Given the description of an element on the screen output the (x, y) to click on. 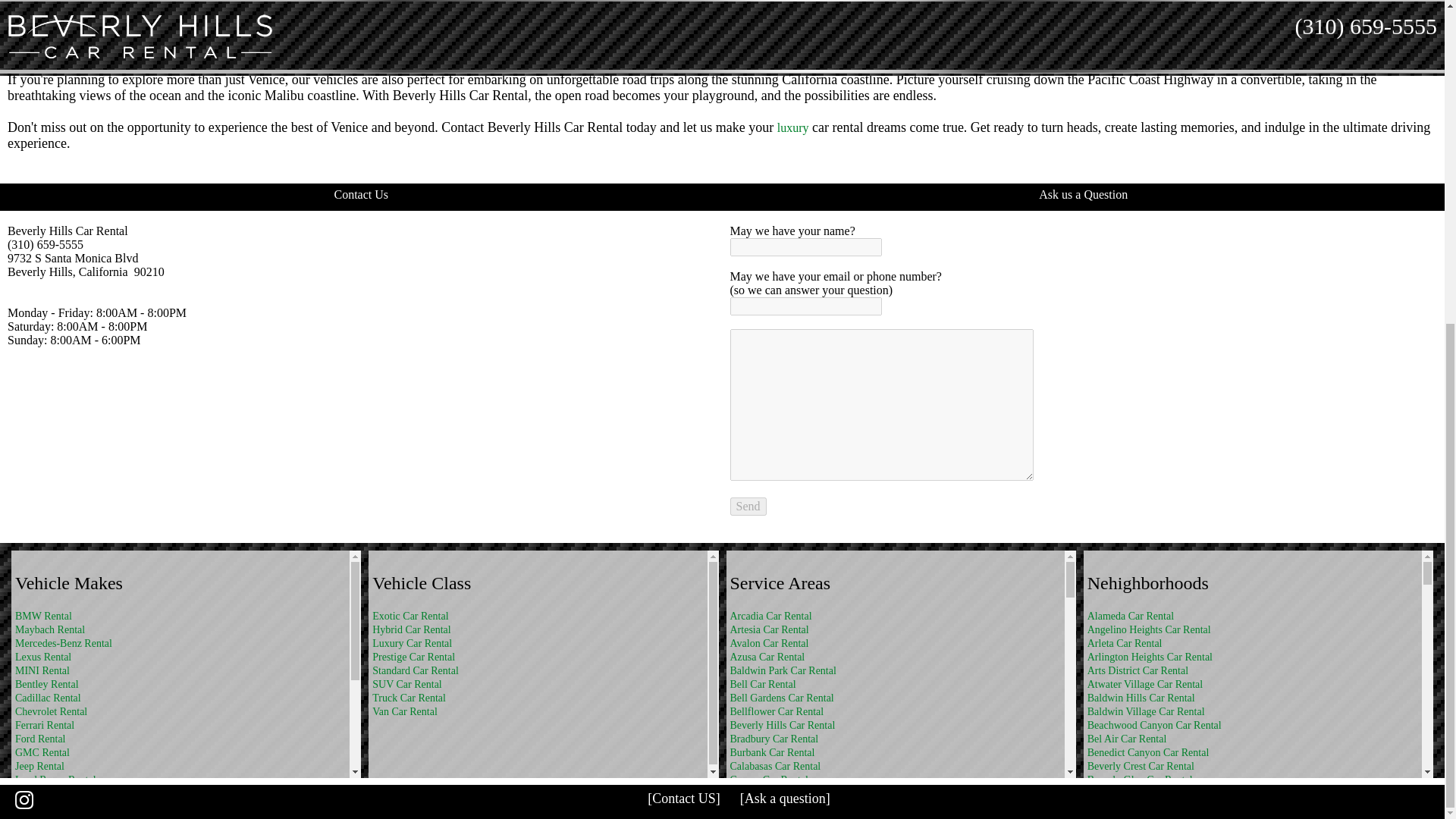
luxury (314, 47)
suv (504, 3)
luxury (477, 3)
Contact Us (360, 194)
Ferrari Rental (44, 725)
Send (747, 506)
Bentley Rental (46, 684)
Visit Beverly Hills Car Rental On Instagram (16, 271)
Chevrolet Rental (50, 711)
MINI Rental (41, 670)
